Given the description of an element on the screen output the (x, y) to click on. 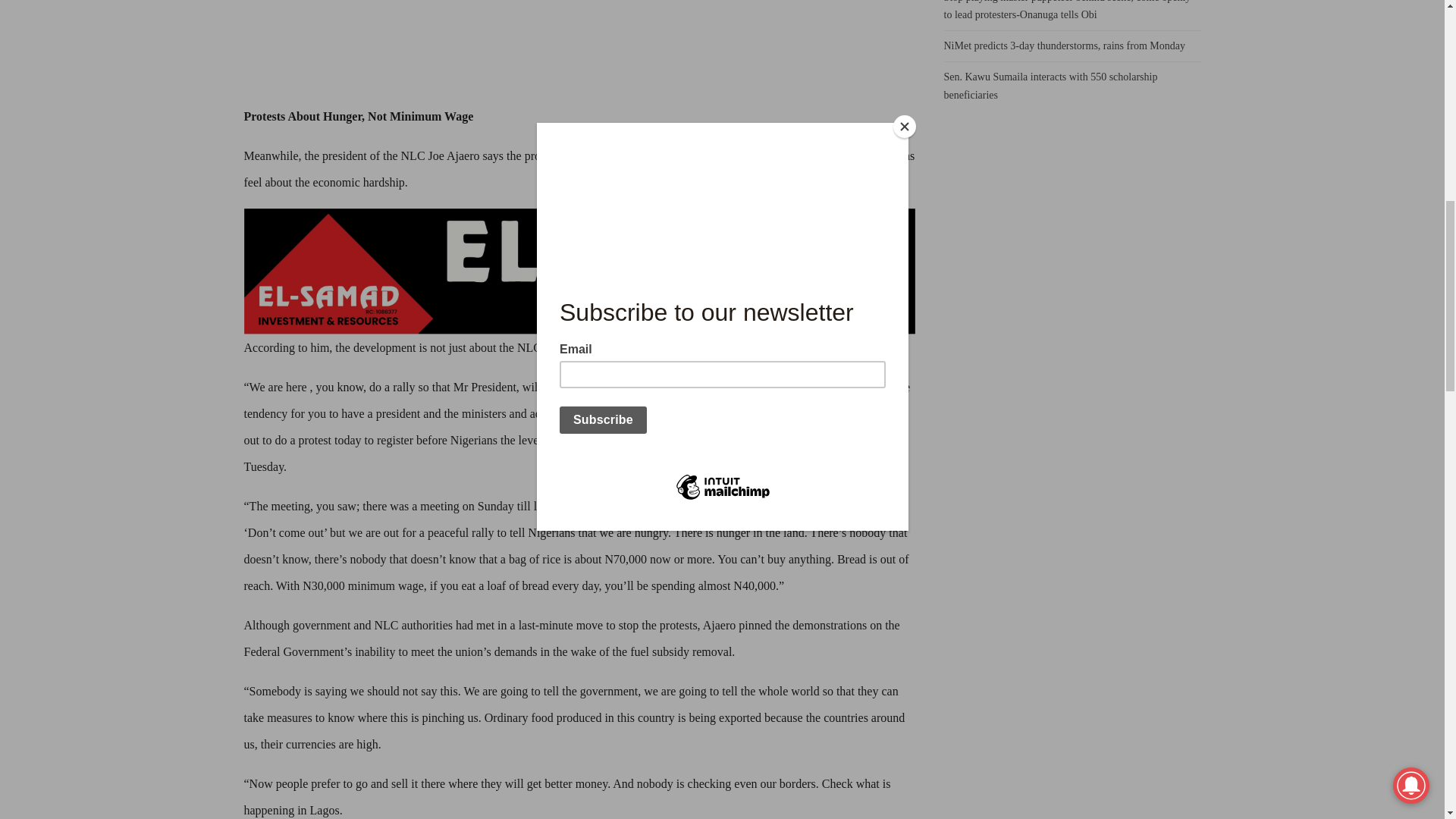
Advertisement (579, 51)
